Given the description of an element on the screen output the (x, y) to click on. 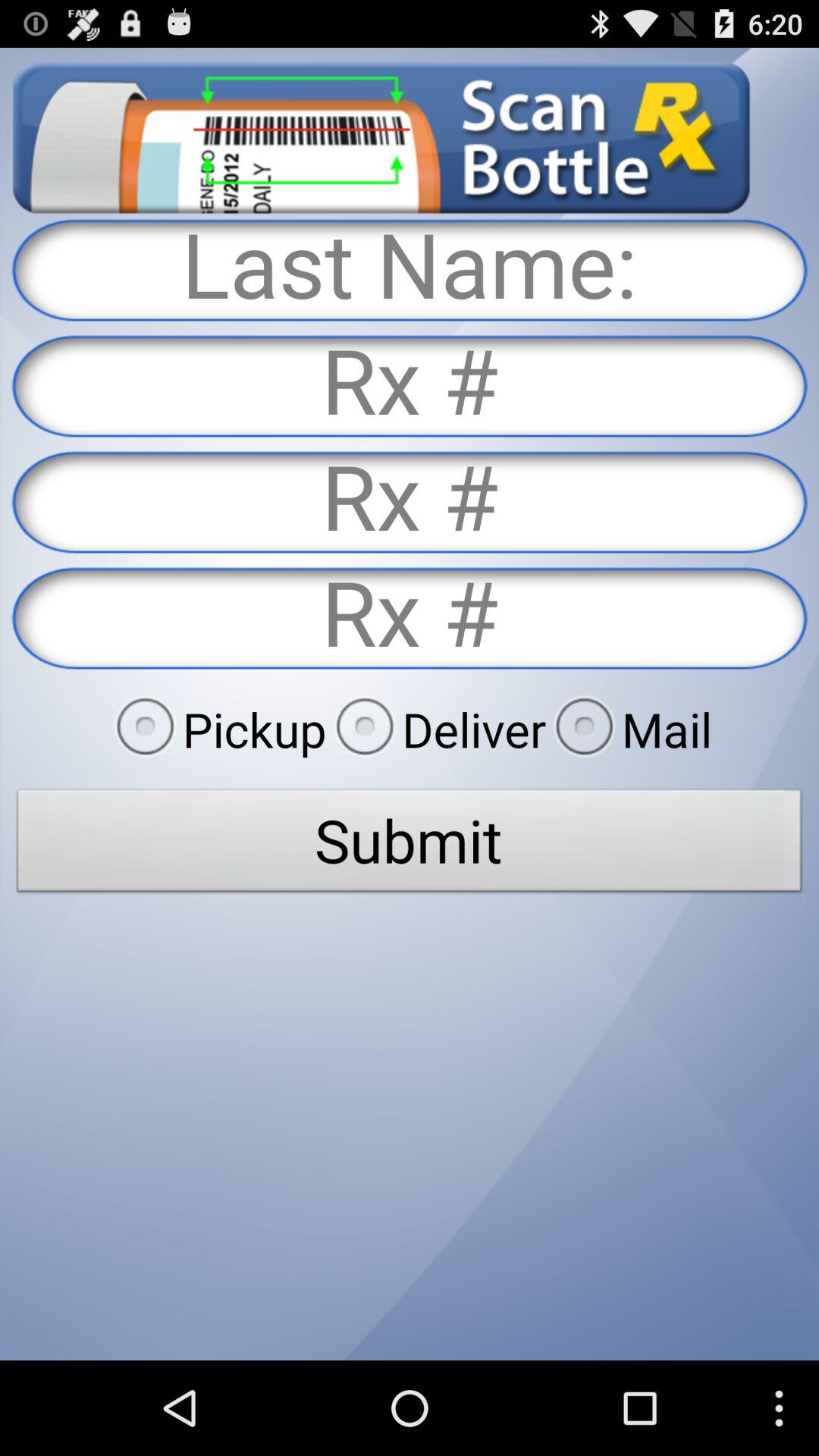
scroll to submit item (409, 844)
